Given the description of an element on the screen output the (x, y) to click on. 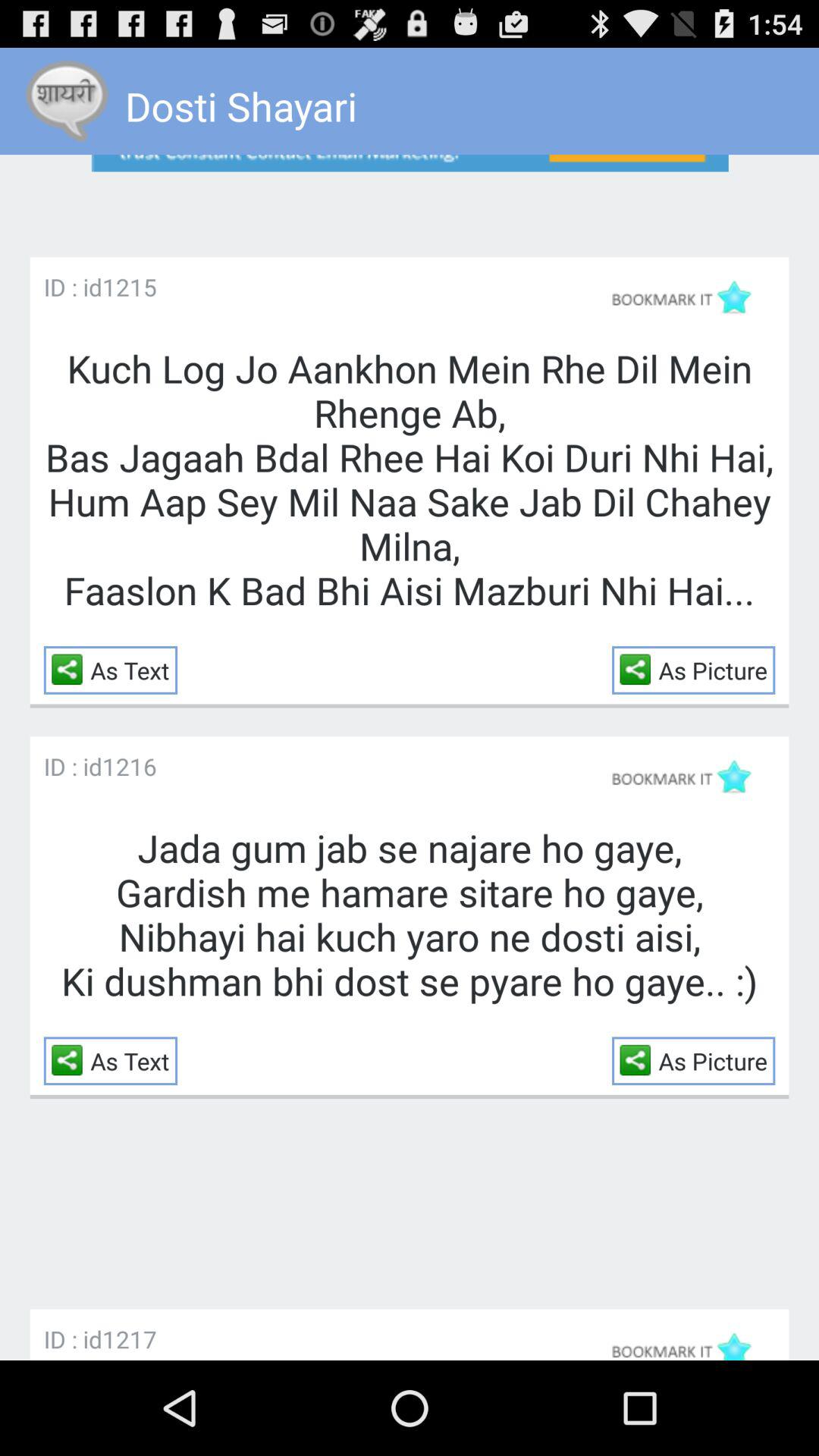
marks as bookmark (688, 296)
